Given the description of an element on the screen output the (x, y) to click on. 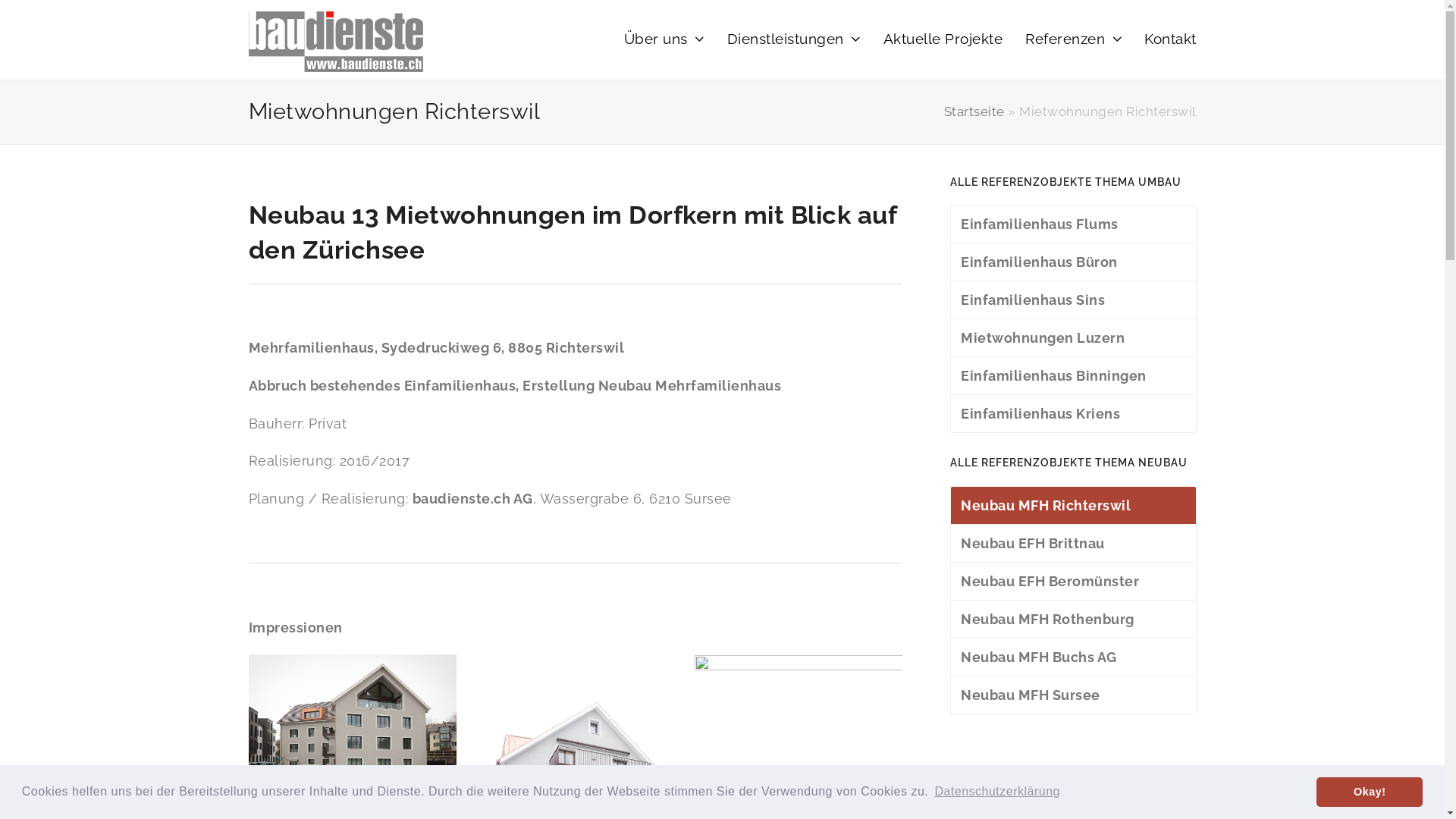
Neubau EFH Brittnau Element type: text (1072, 543)
Okay! Element type: text (1369, 791)
Neubau MFH Sursee Element type: text (1072, 695)
Referenzen Element type: text (1072, 39)
Neubau MFH Richterswil Element type: text (1072, 505)
Mietwohnungen Luzern Element type: text (1072, 338)
Aktuelle Projekte Element type: text (943, 39)
Einfamilienhaus Binningen Element type: text (1072, 376)
Einfamilienhaus Sins Element type: text (1072, 300)
Startseite Element type: text (973, 111)
Dienstleistungen Element type: text (793, 39)
Einfamilienhaus Flums Element type: text (1072, 223)
Neubau MFH Buchs AG Element type: text (1072, 657)
Einfamilienhaus Kriens Element type: text (1072, 414)
Neubau MFH Rothenburg Element type: text (1072, 619)
Kontakt Element type: text (1170, 39)
